Given the description of an element on the screen output the (x, y) to click on. 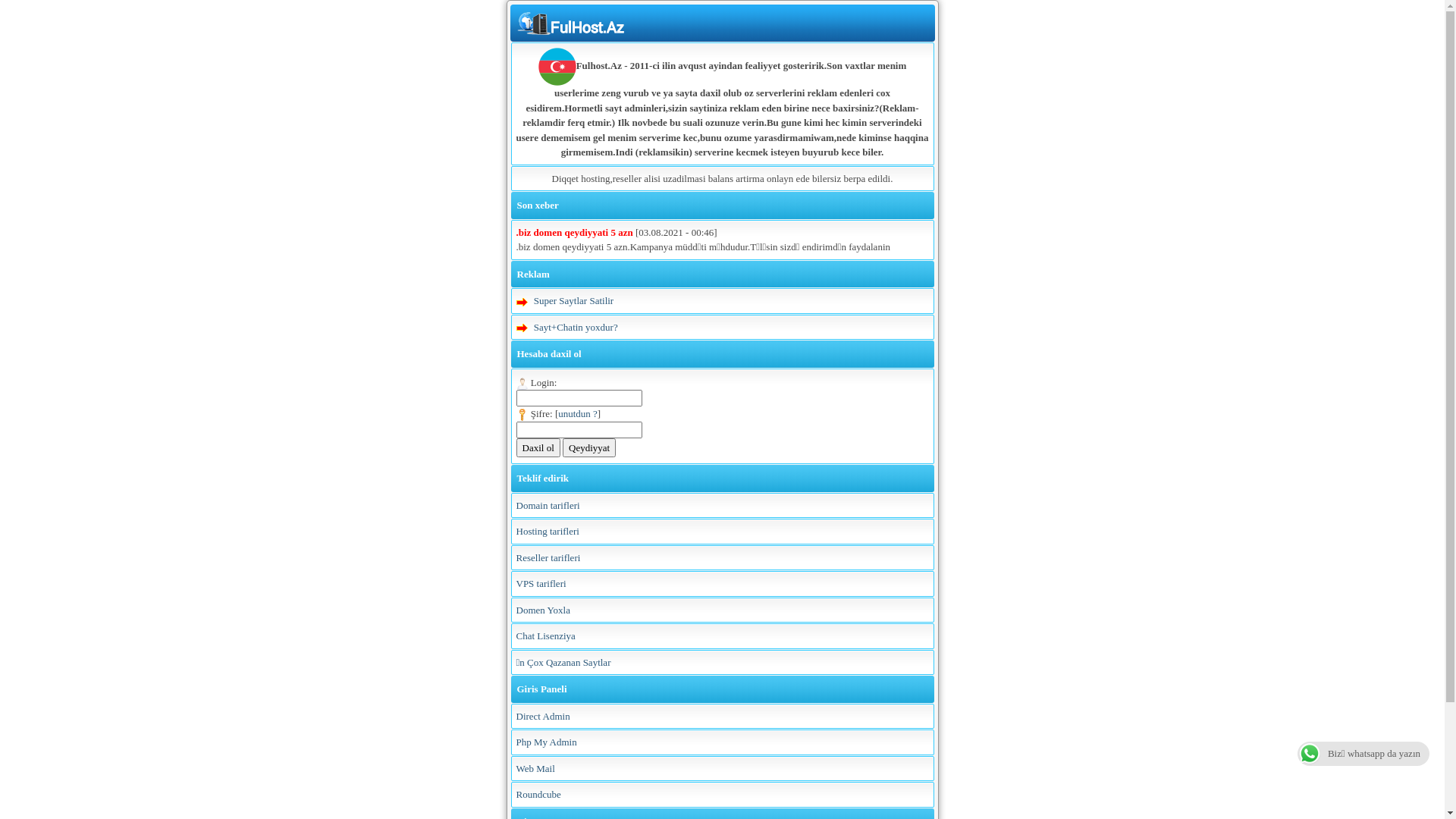
Super Saytlar Satilir Element type: text (573, 300)
Reseller tarifleri Element type: text (547, 557)
VPS tarifleri Element type: text (540, 583)
unutdun ? Element type: text (577, 413)
Hosting tarifleri Element type: text (546, 530)
Chat Lisenziya Element type: text (544, 635)
Domen Yoxla Element type: text (542, 609)
Qeydiyyat Element type: text (588, 448)
Php My Admin Element type: text (545, 741)
Sayt+Chatin yoxdur? Element type: text (575, 326)
Roundcube Element type: text (537, 794)
Direct Admin Element type: text (542, 715)
Domain tarifleri Element type: text (547, 504)
Daxil ol Element type: text (537, 448)
Web Mail Element type: text (534, 768)
